Given the description of an element on the screen output the (x, y) to click on. 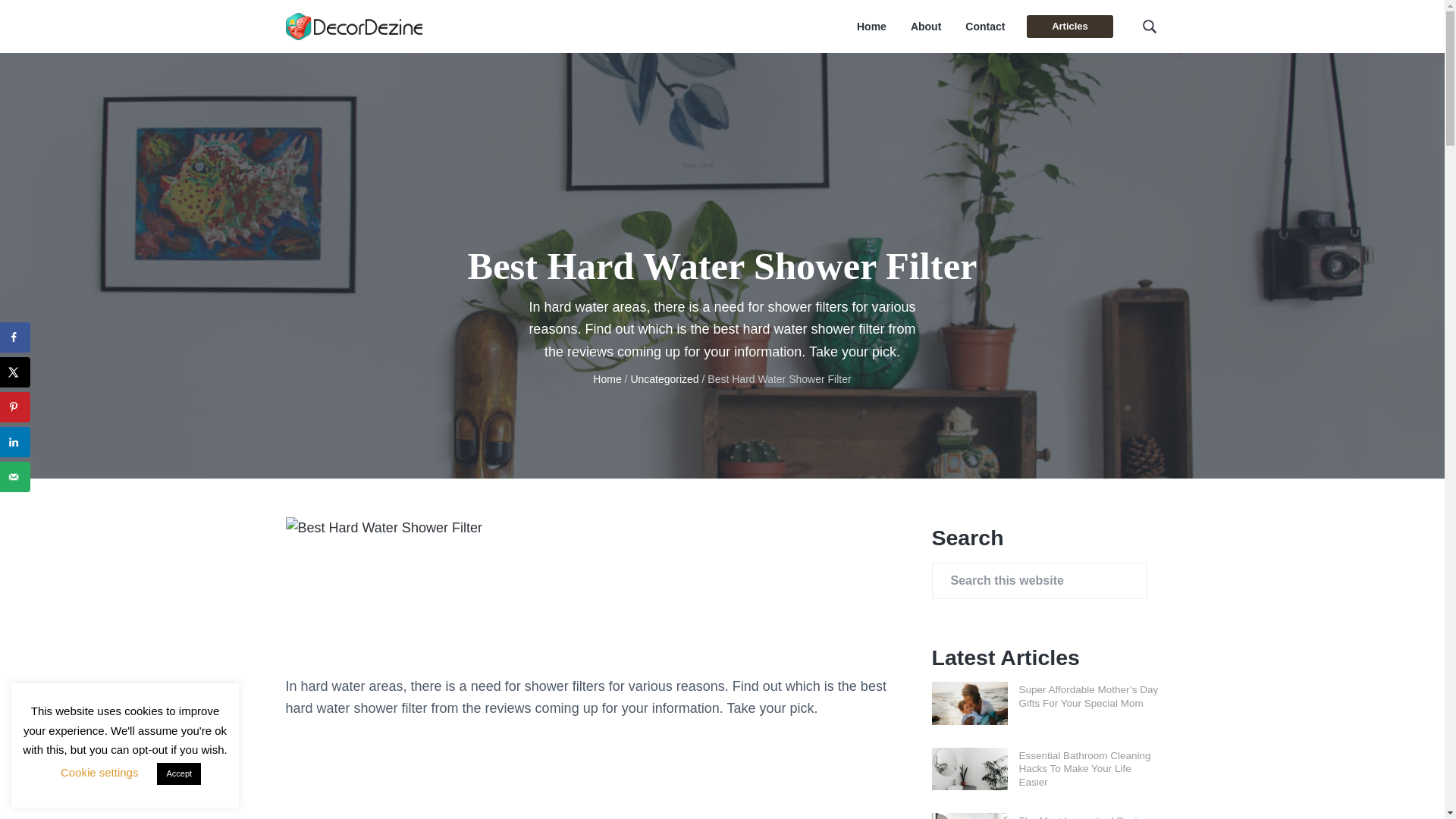
Share on Facebook (15, 337)
Essential Bathroom Cleaning Hacks To Make Your Life Easier (1085, 768)
Uncategorized (664, 378)
Search (60, 18)
Contact (984, 27)
About (925, 27)
Articles (1068, 25)
Home (871, 27)
The Most Impractical Design Styles According To Designers (1088, 816)
